Given the description of an element on the screen output the (x, y) to click on. 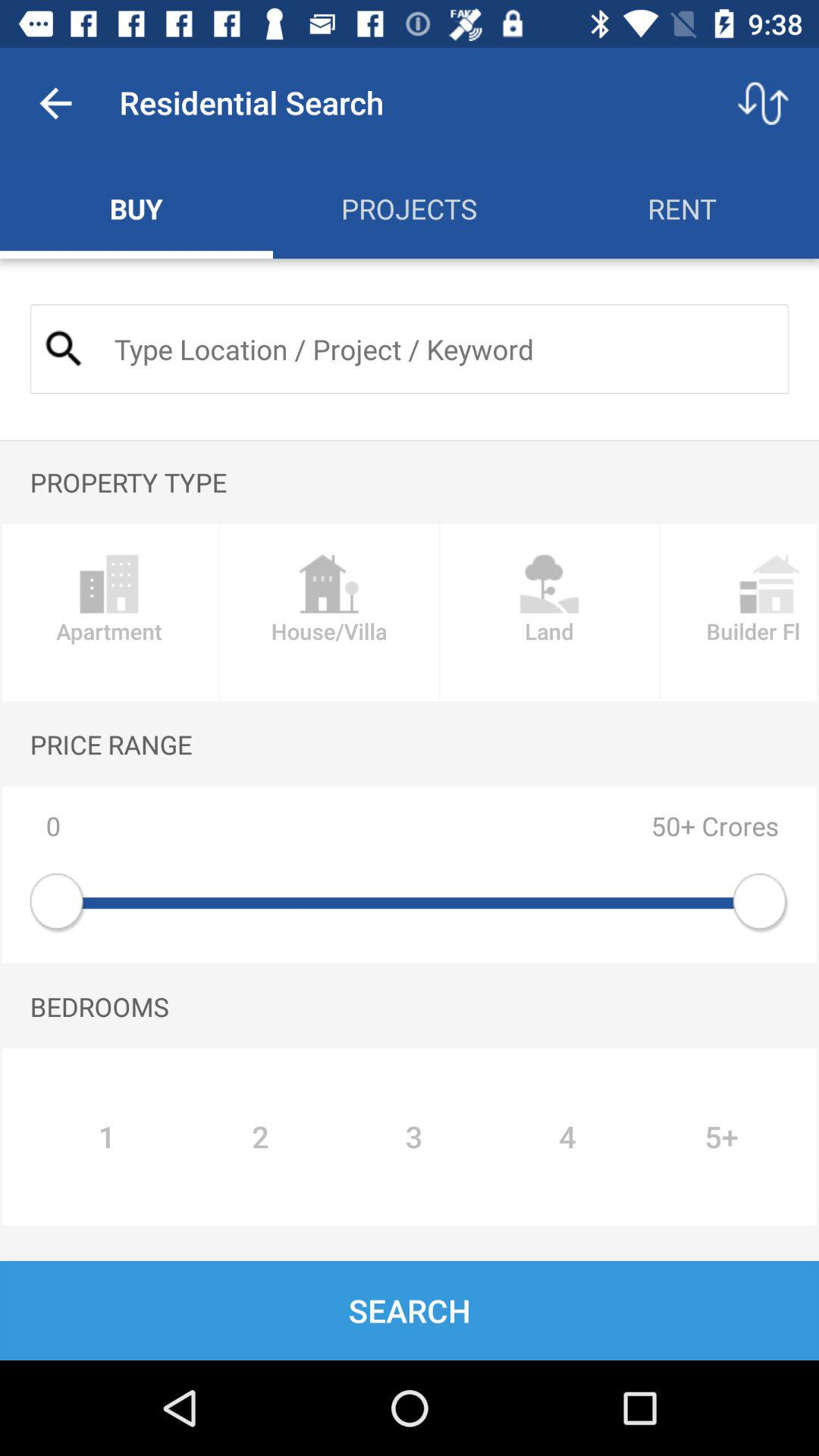
choose the house/villa icon (329, 612)
